Given the description of an element on the screen output the (x, y) to click on. 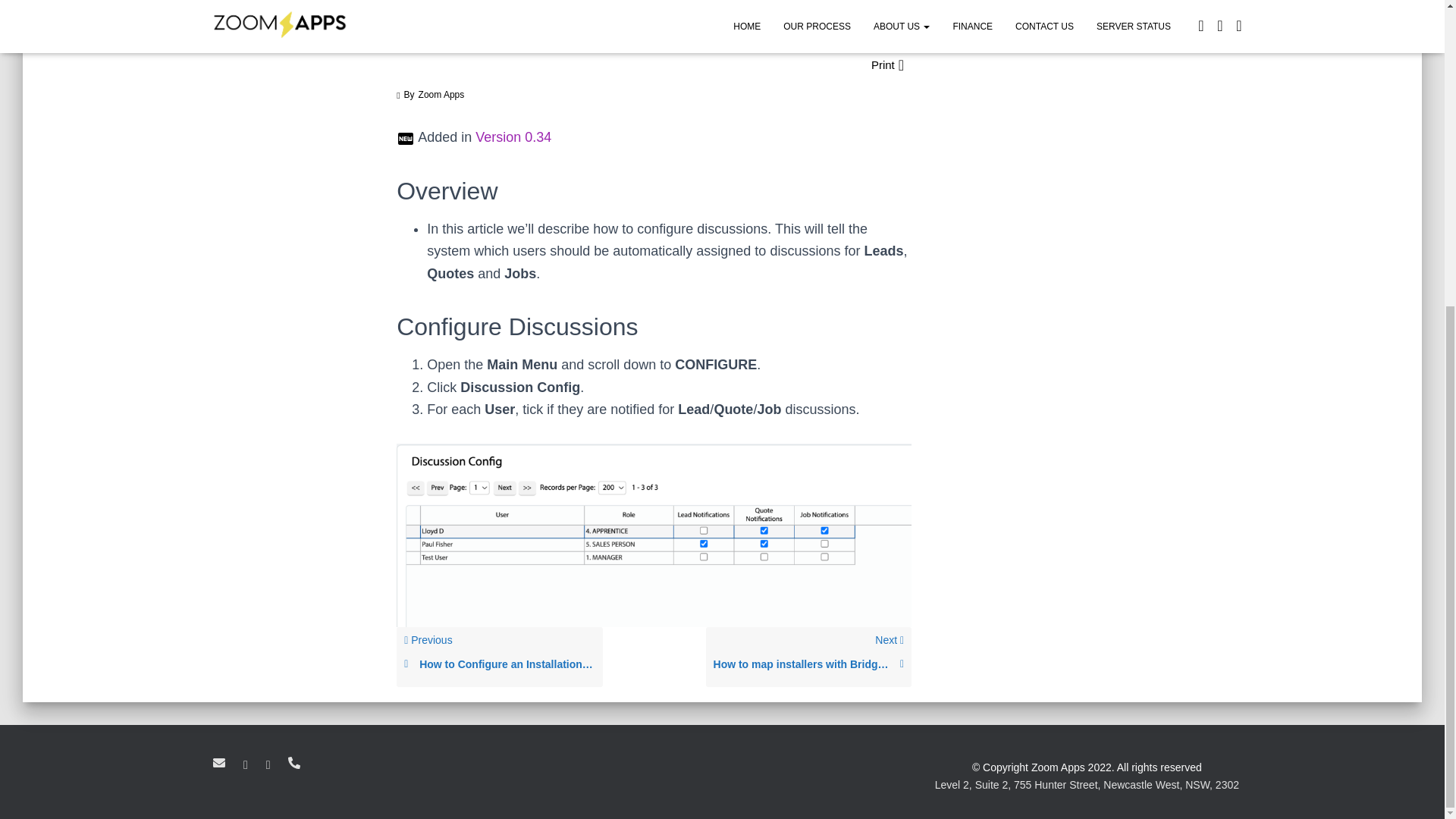
How to Configure an Installation Day Email (499, 664)
Version 0.34 (513, 136)
How to map installers with Bridge Select (499, 657)
EMAIL (808, 664)
02 4072 2547 (809, 657)
